Given the description of an element on the screen output the (x, y) to click on. 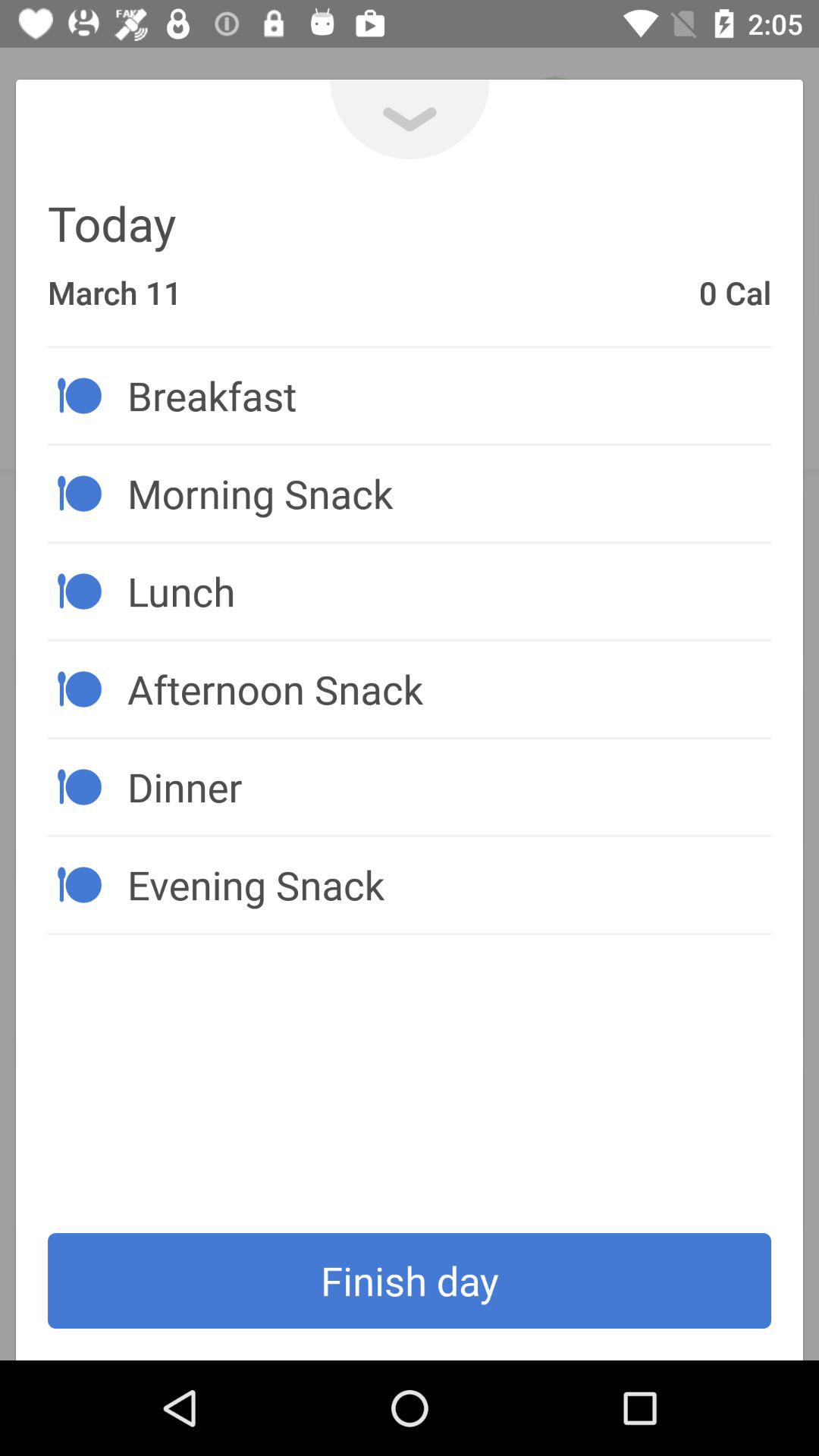
click the icon below afternoon snack item (449, 786)
